Given the description of an element on the screen output the (x, y) to click on. 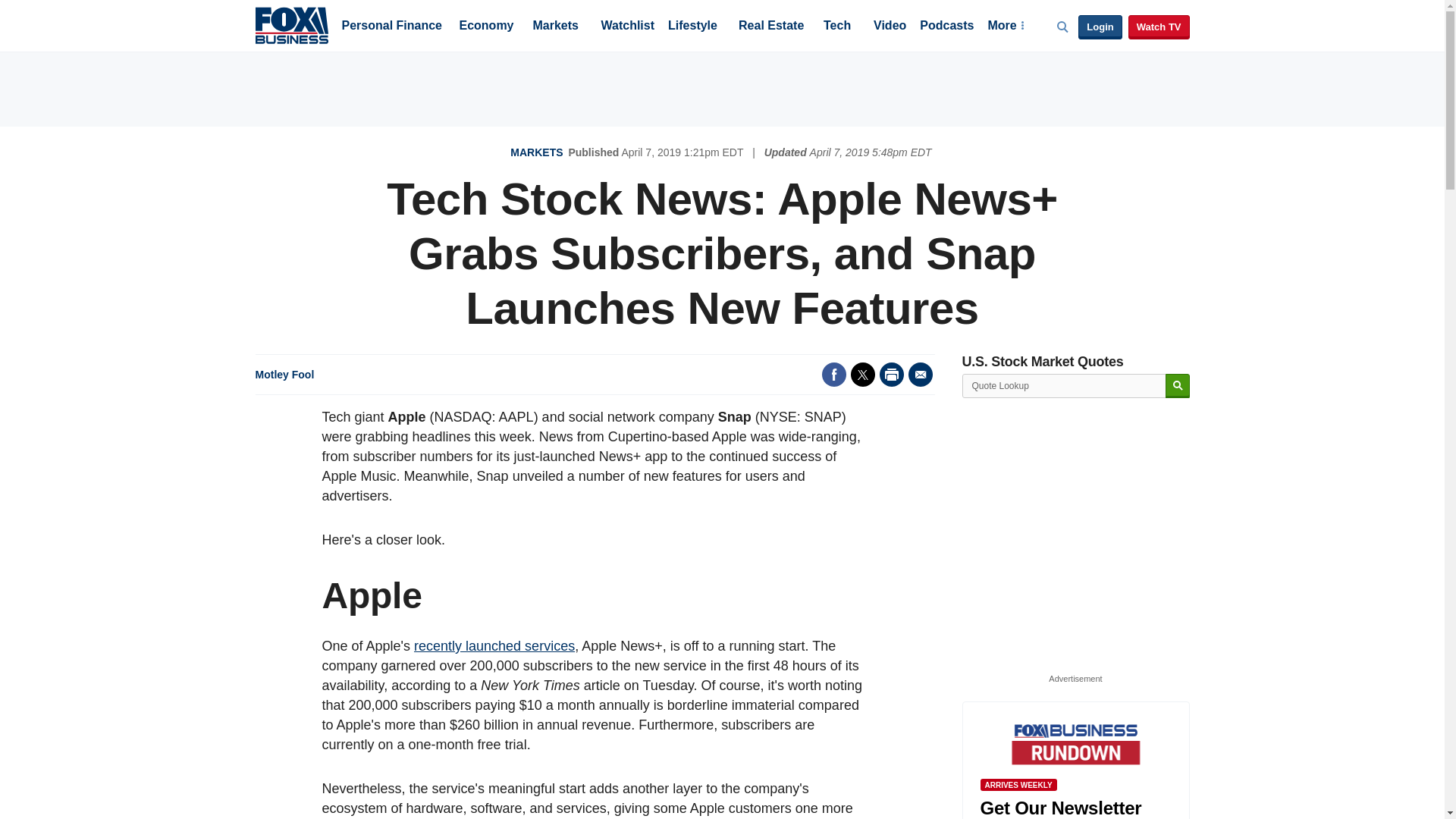
Tech (837, 27)
Personal Finance (391, 27)
Markets (555, 27)
Lifestyle (692, 27)
More (1005, 27)
Search (1176, 385)
Video (889, 27)
Watch TV (1158, 27)
Real Estate (770, 27)
Podcasts (947, 27)
Search (1176, 385)
Economy (486, 27)
Login (1099, 27)
Fox Business (290, 24)
Watchlist (626, 27)
